Given the description of an element on the screen output the (x, y) to click on. 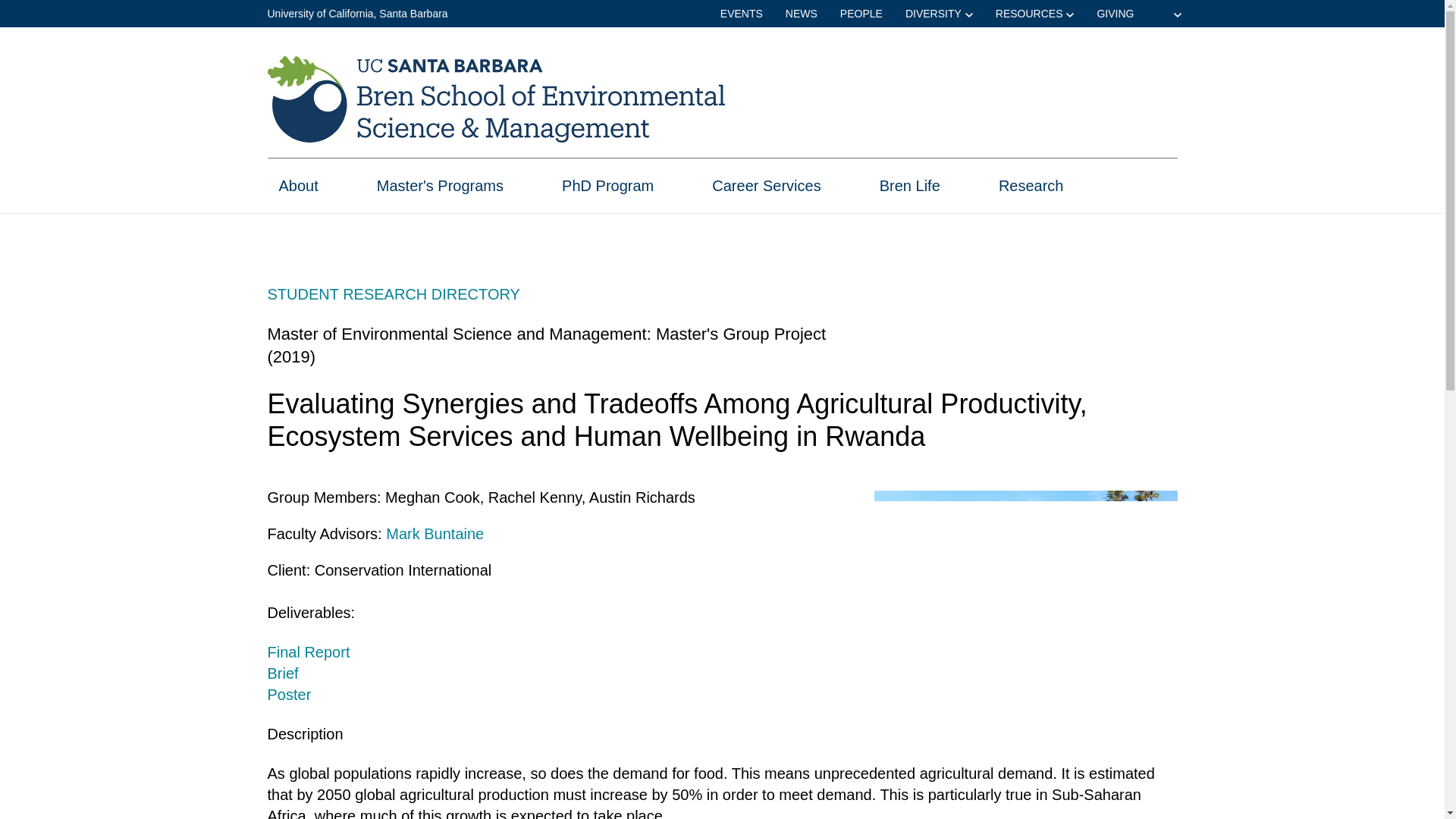
About (298, 192)
GIVING (1114, 13)
NEWS (801, 13)
PEOPLE (860, 13)
PhD Program (607, 192)
University of California, Santa Barbara (356, 13)
Master's Programs (440, 192)
EVENTS (741, 13)
